Given the description of an element on the screen output the (x, y) to click on. 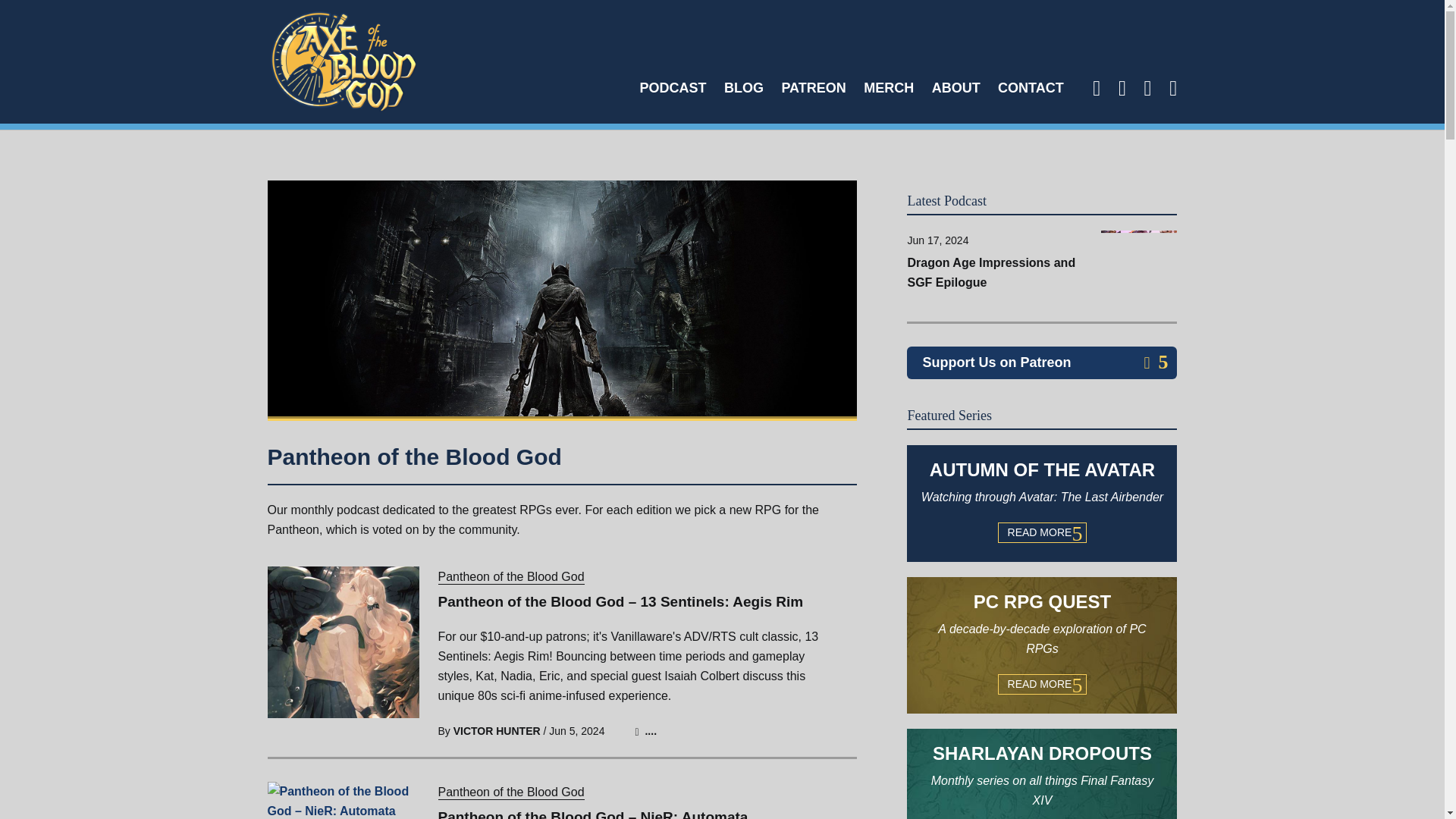
PATREON (650, 730)
PODCAST (812, 80)
Bloodborne (672, 80)
ABOUT (511, 792)
VICTOR HUNTER (955, 80)
CONTACT (496, 730)
Pantheon of the Blood God (1030, 80)
Pantheon of the Blood God (511, 577)
